Given the description of an element on the screen output the (x, y) to click on. 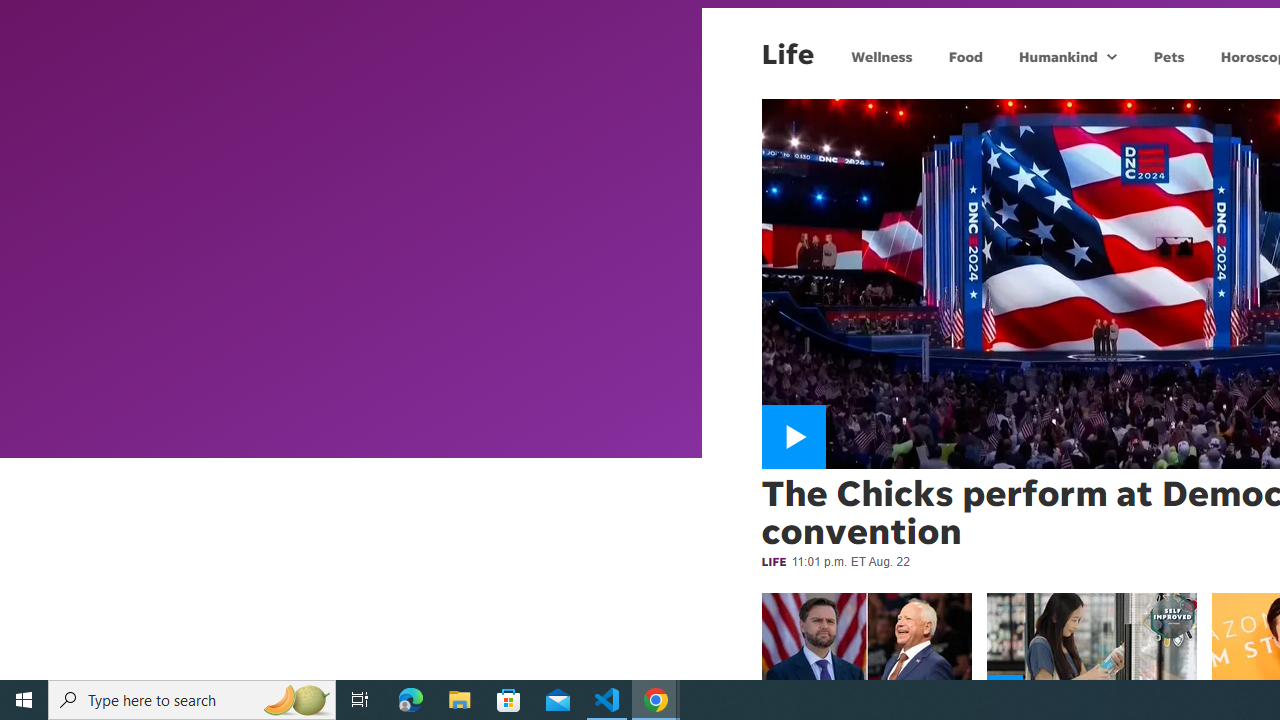
Food (965, 56)
Microsoft Store (509, 699)
Wellness (881, 56)
Microsoft Edge (411, 699)
Visual Studio Code - 1 running window (607, 699)
Google Chrome - 2 running windows (656, 699)
Humankind (1055, 56)
Pets (1168, 56)
More Humankind navigation (1111, 56)
Search highlights icon opens search home window (295, 699)
Type here to search (191, 699)
Start (24, 699)
Task View (359, 699)
